Given the description of an element on the screen output the (x, y) to click on. 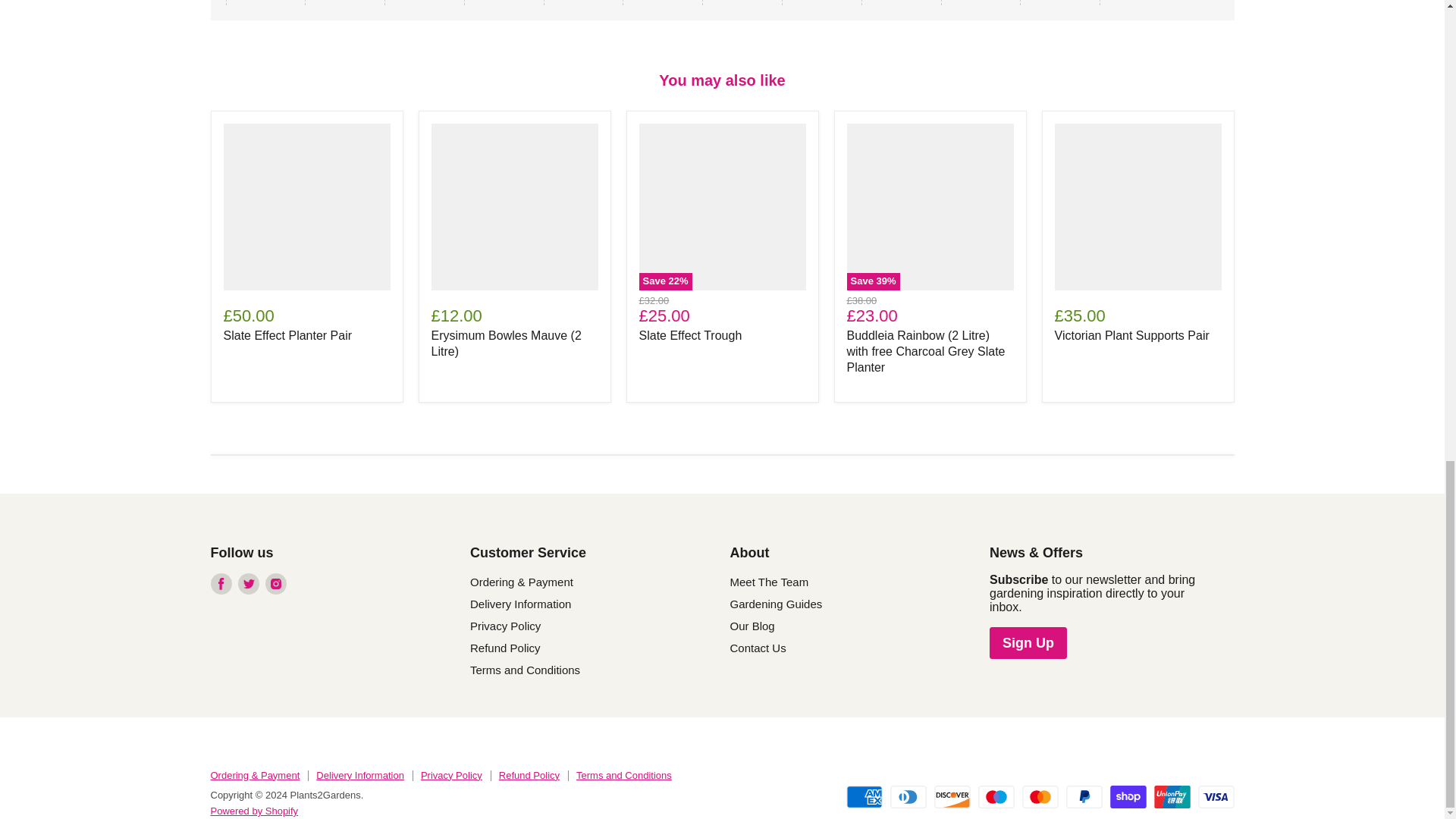
Twitter (248, 583)
Facebook (221, 583)
Instagram (275, 583)
American Express (863, 796)
